Given the description of an element on the screen output the (x, y) to click on. 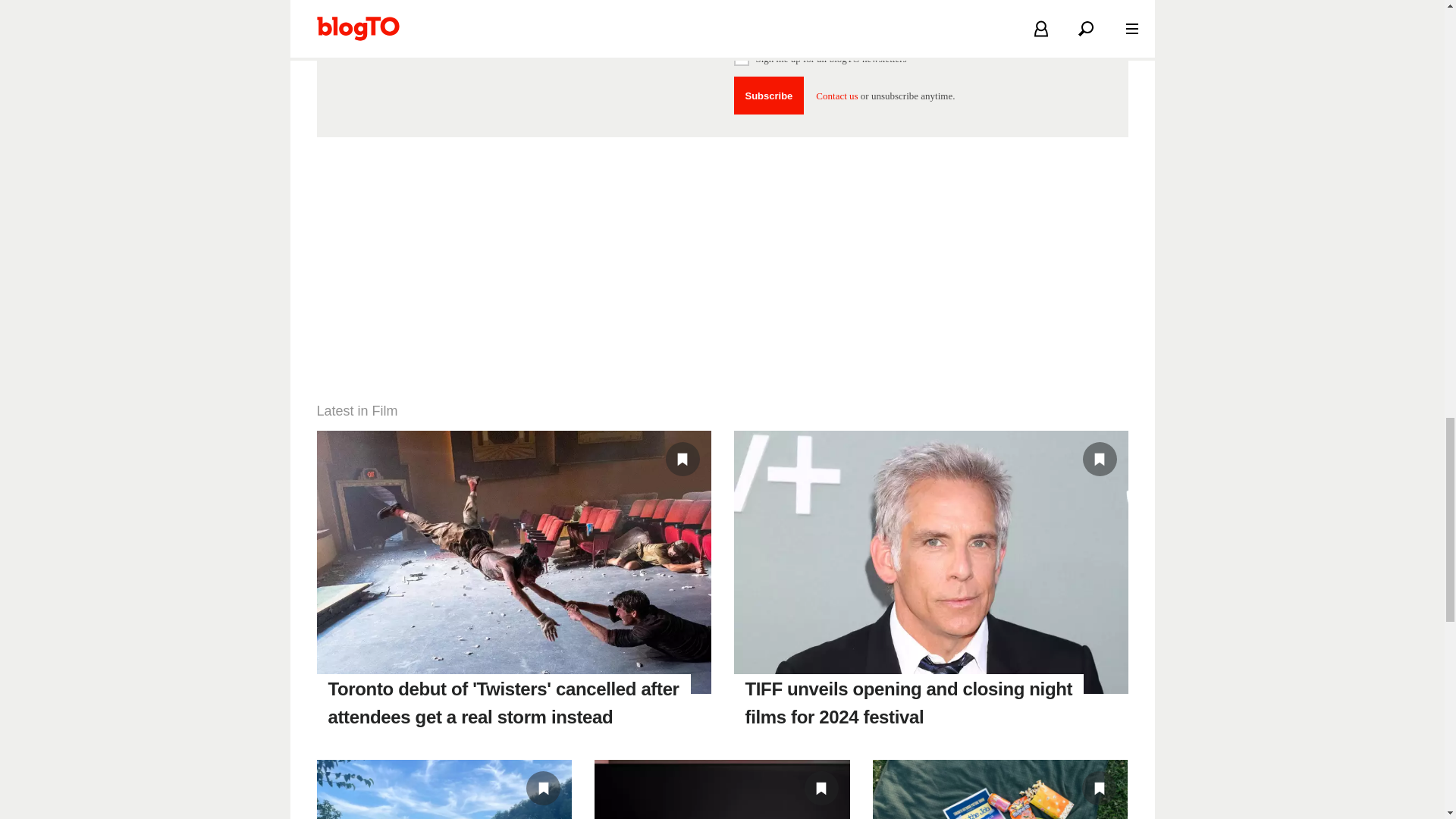
Subscribe (769, 95)
